Given the description of an element on the screen output the (x, y) to click on. 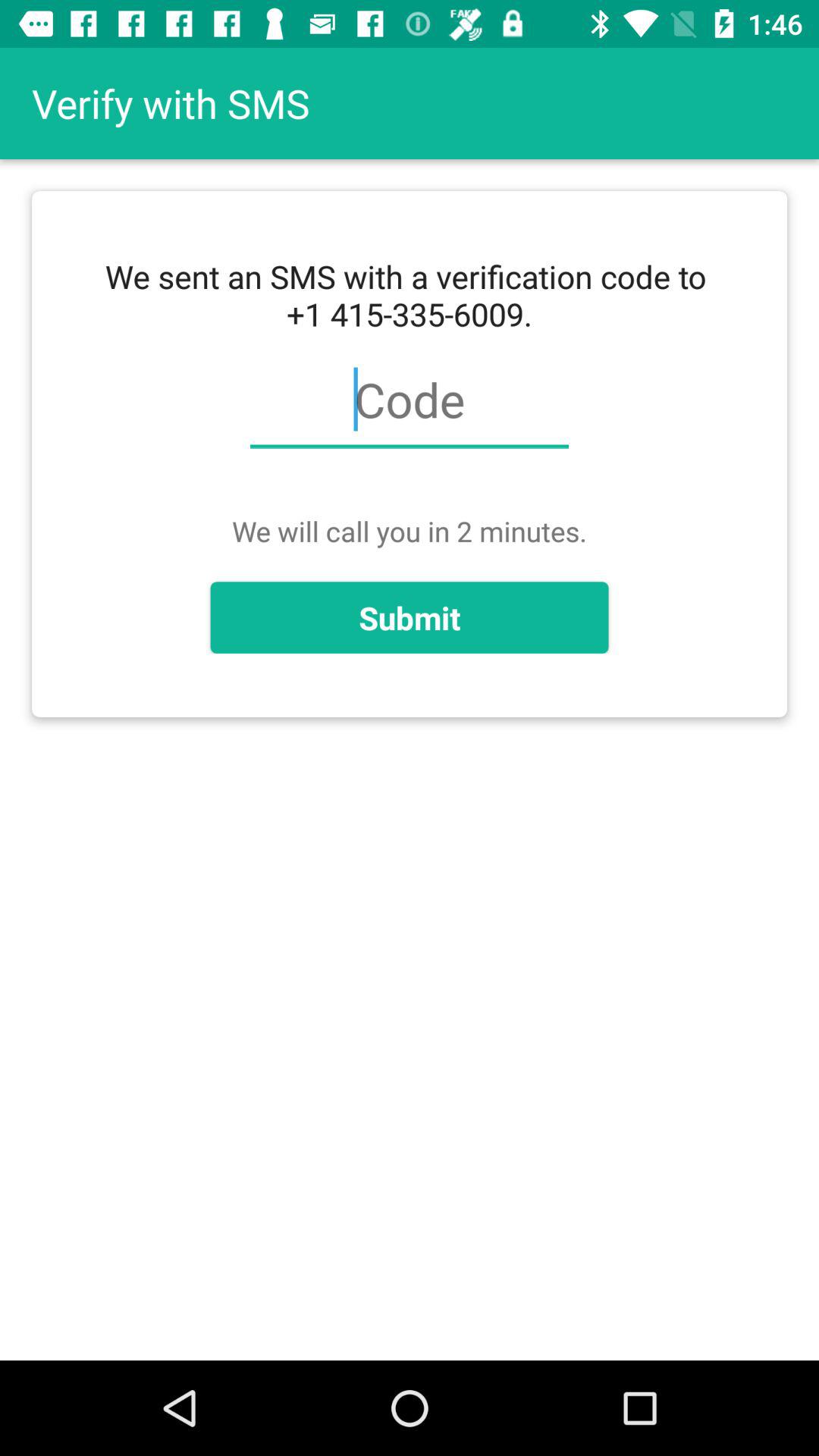
swipe until the submit icon (409, 617)
